Given the description of an element on the screen output the (x, y) to click on. 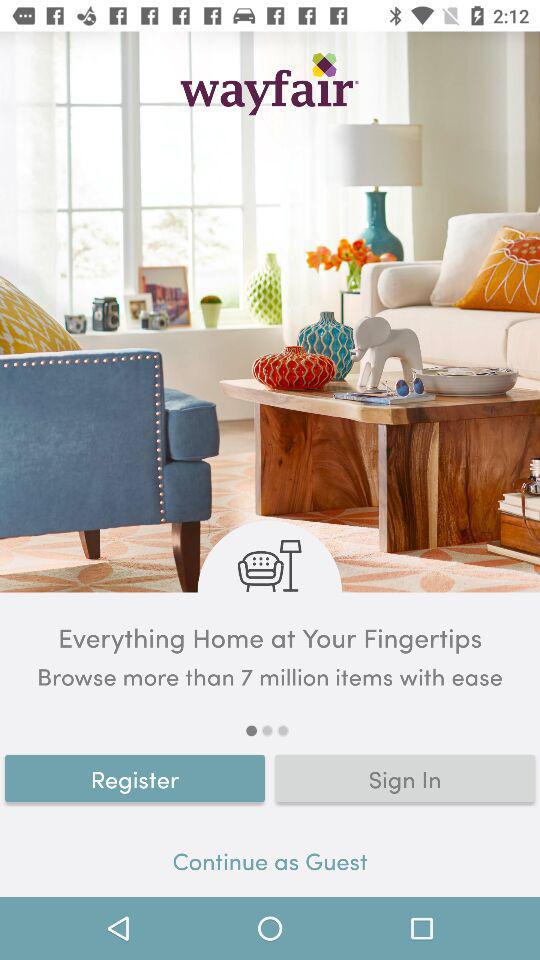
launch sign in at the bottom right corner (405, 778)
